Given the description of an element on the screen output the (x, y) to click on. 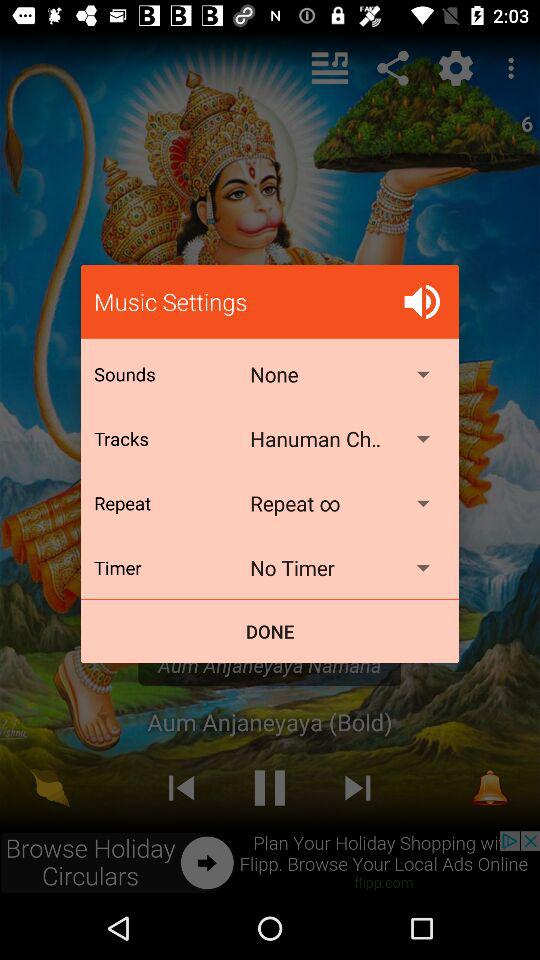
click the done icon (270, 631)
